Given the description of an element on the screen output the (x, y) to click on. 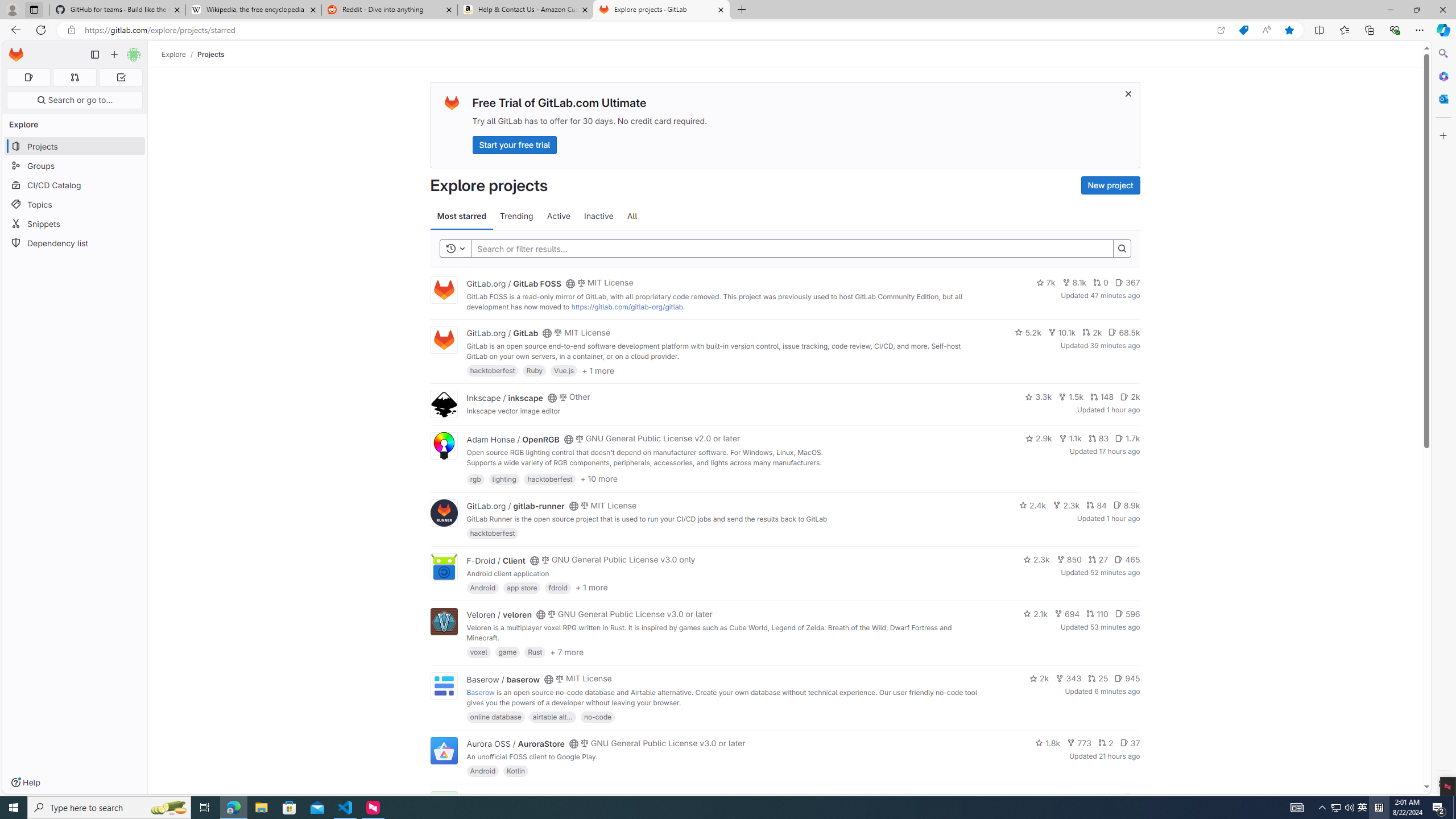
Active (559, 216)
+ 7 more (566, 651)
Aurora OSS / AuroraStore (514, 743)
25 (1097, 678)
https://openrgb.org (563, 472)
10.1k (1061, 331)
Projects (211, 53)
To-Do list 0 (120, 76)
Groups (74, 165)
37 (1129, 742)
